Given the description of an element on the screen output the (x, y) to click on. 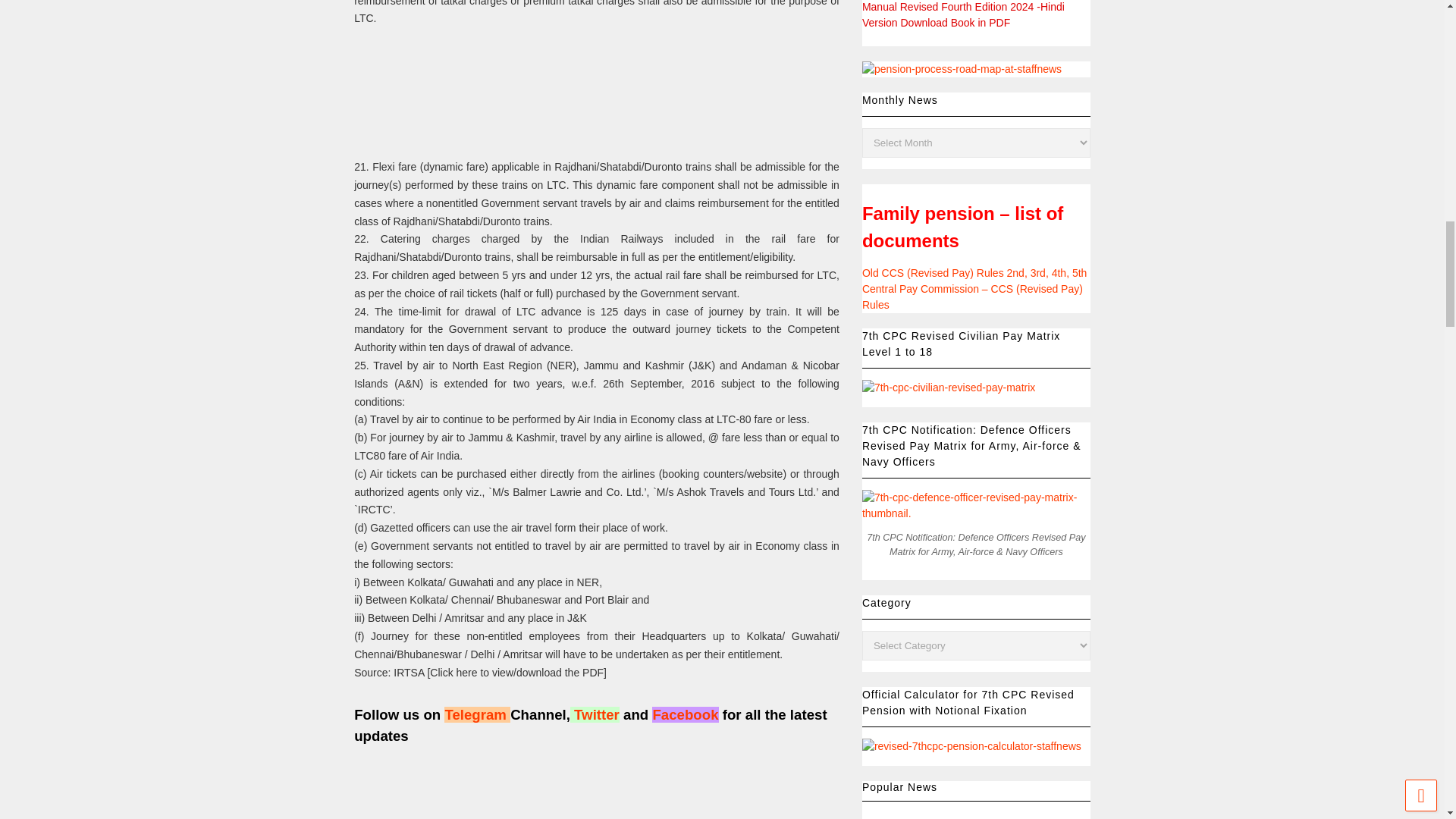
Subscribe on Telegram (475, 714)
